Given the description of an element on the screen output the (x, y) to click on. 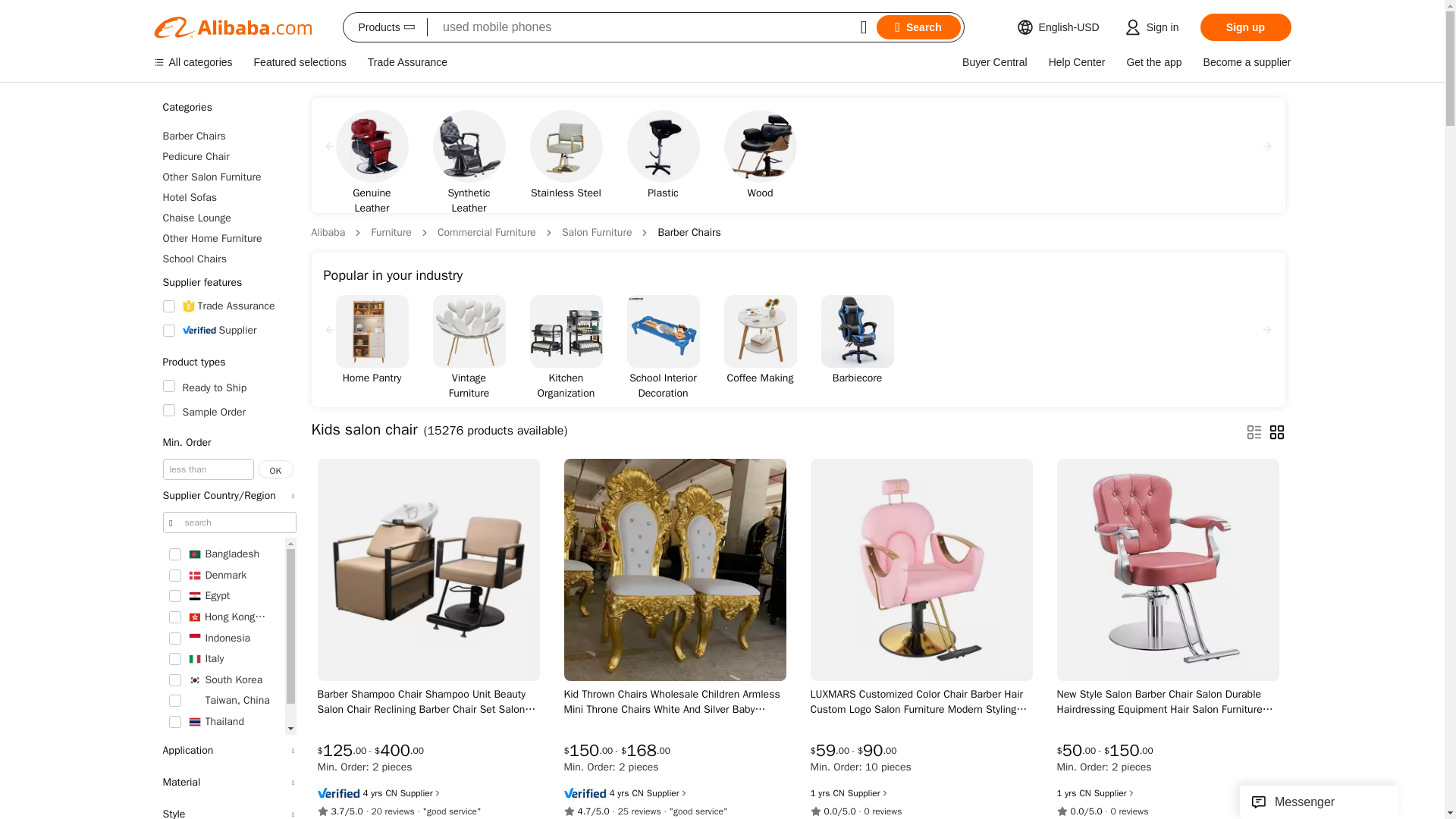
Categories (228, 107)
Pedicure Chair (228, 156)
Barber Chairs (228, 135)
Other Salon Furniture (228, 176)
